Given the description of an element on the screen output the (x, y) to click on. 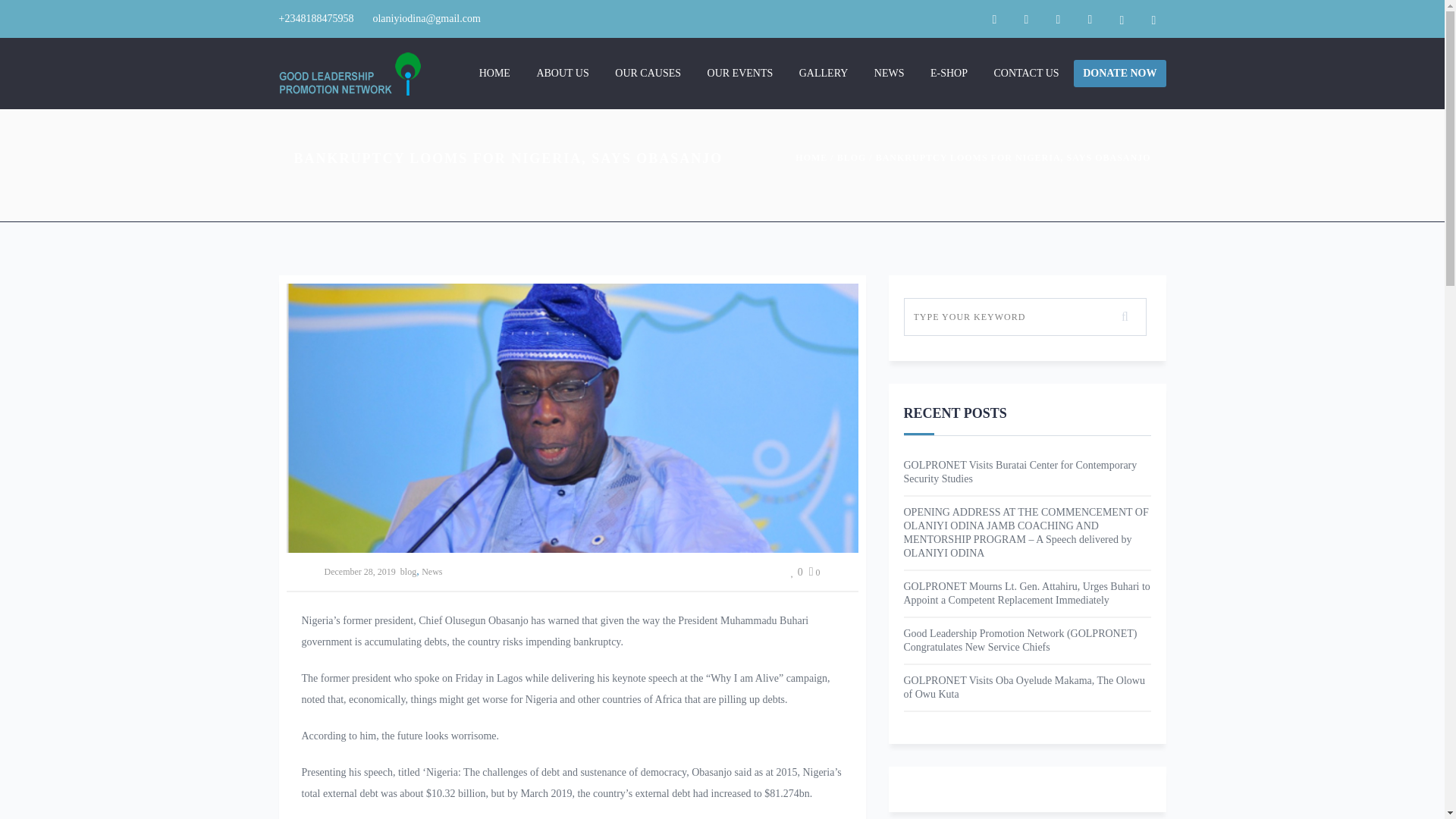
News (432, 571)
BLOG (851, 157)
HOME (810, 157)
CONTACT US (1026, 72)
OUR CAUSES (648, 72)
blog (408, 571)
GALLERY (823, 72)
OUR EVENTS (739, 72)
